Given the description of an element on the screen output the (x, y) to click on. 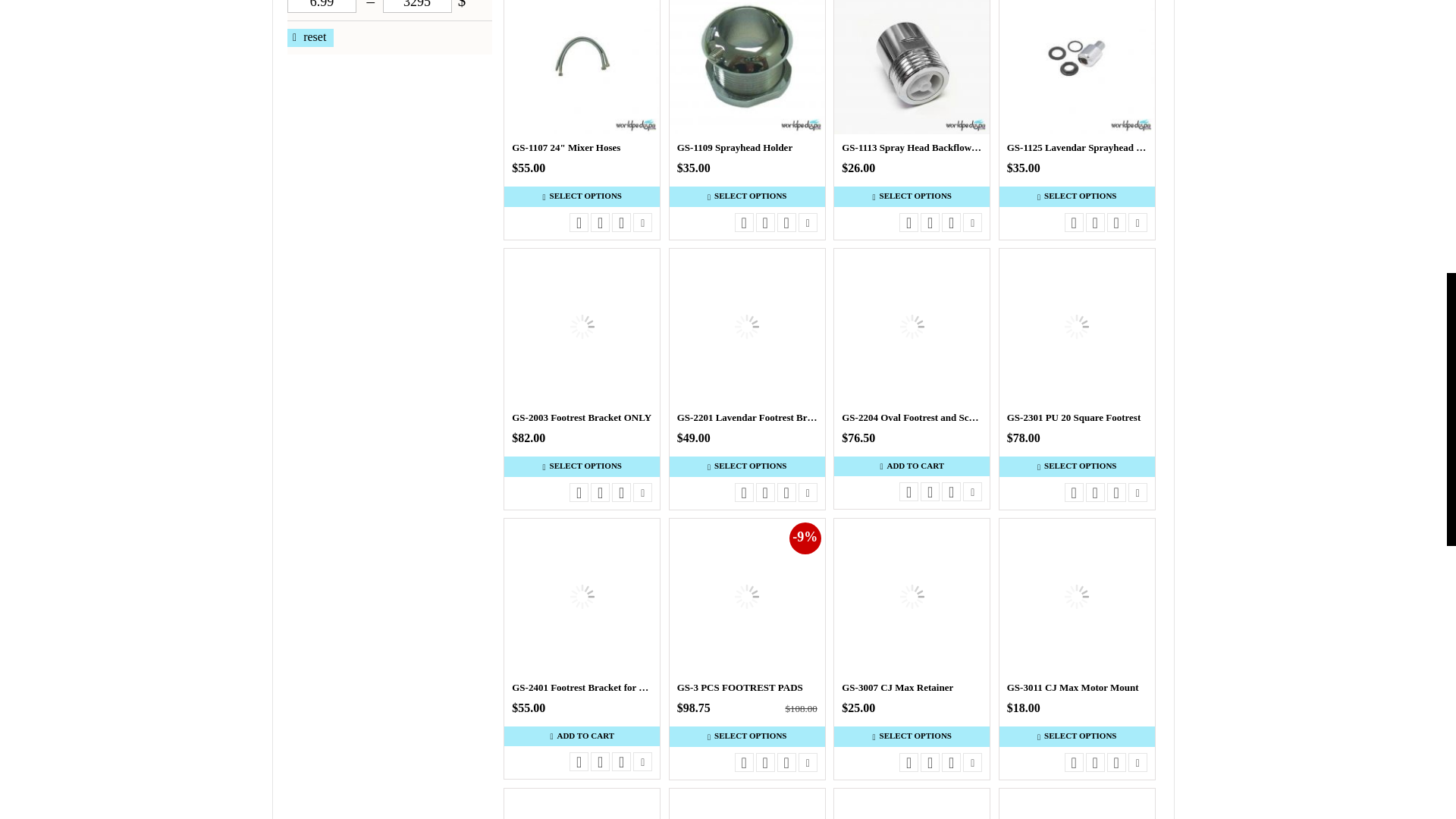
3295 (416, 6)
6.99 (321, 6)
reset (309, 37)
